Given the description of an element on the screen output the (x, y) to click on. 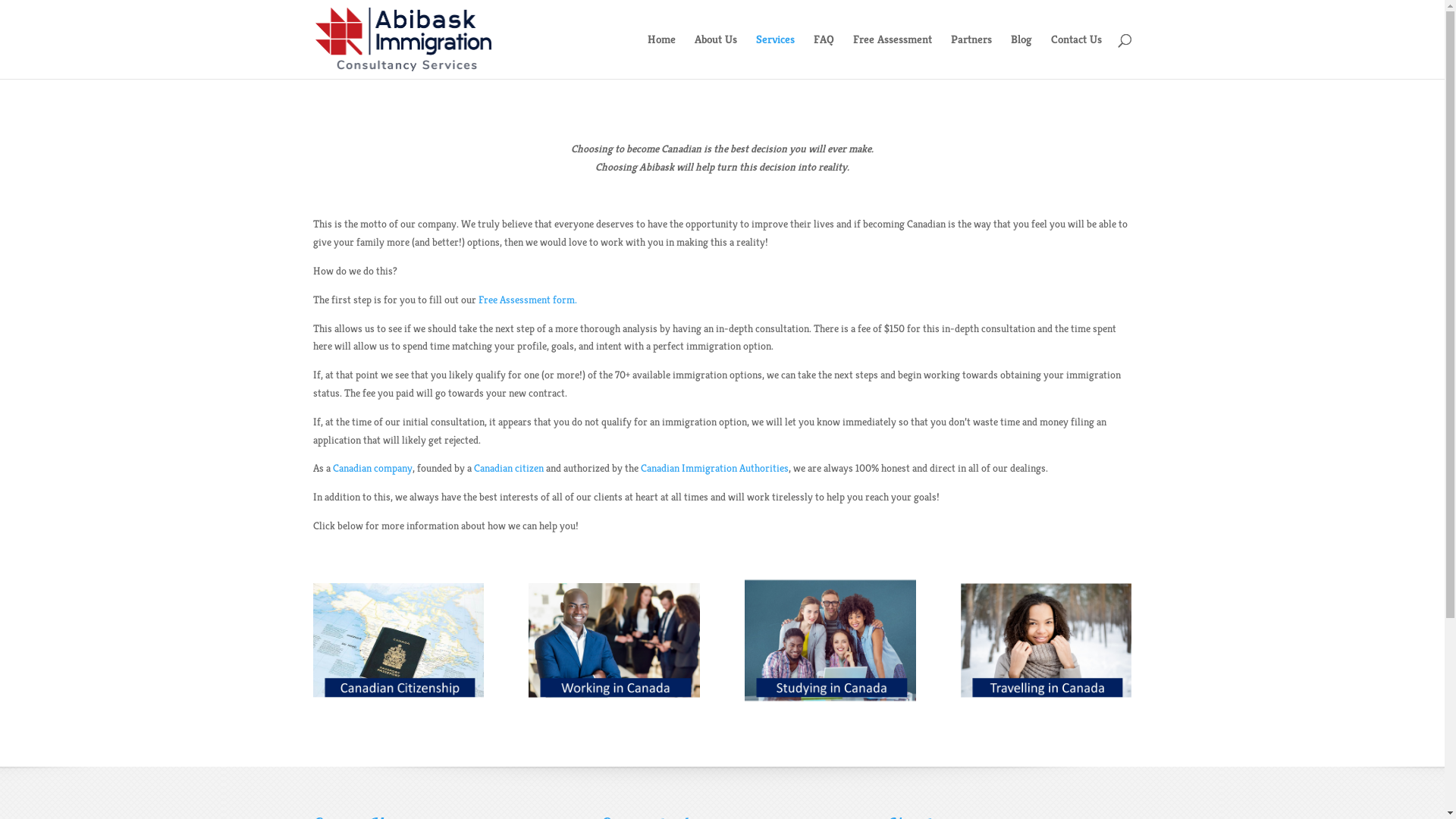
Home Element type: text (661, 56)
Contact Us Element type: text (1076, 56)
Blog Element type: text (1020, 56)
FAQ Element type: text (822, 56)
Partners Element type: text (970, 56)
Canadian Immigration Authorities Element type: text (713, 467)
Free Assessment Element type: text (891, 56)
Free Assessment form. Element type: text (526, 299)
Canadian citizen Element type: text (507, 467)
Services Element type: text (774, 56)
Canadian company Element type: text (371, 467)
About Us Element type: text (715, 56)
